Given the description of an element on the screen output the (x, y) to click on. 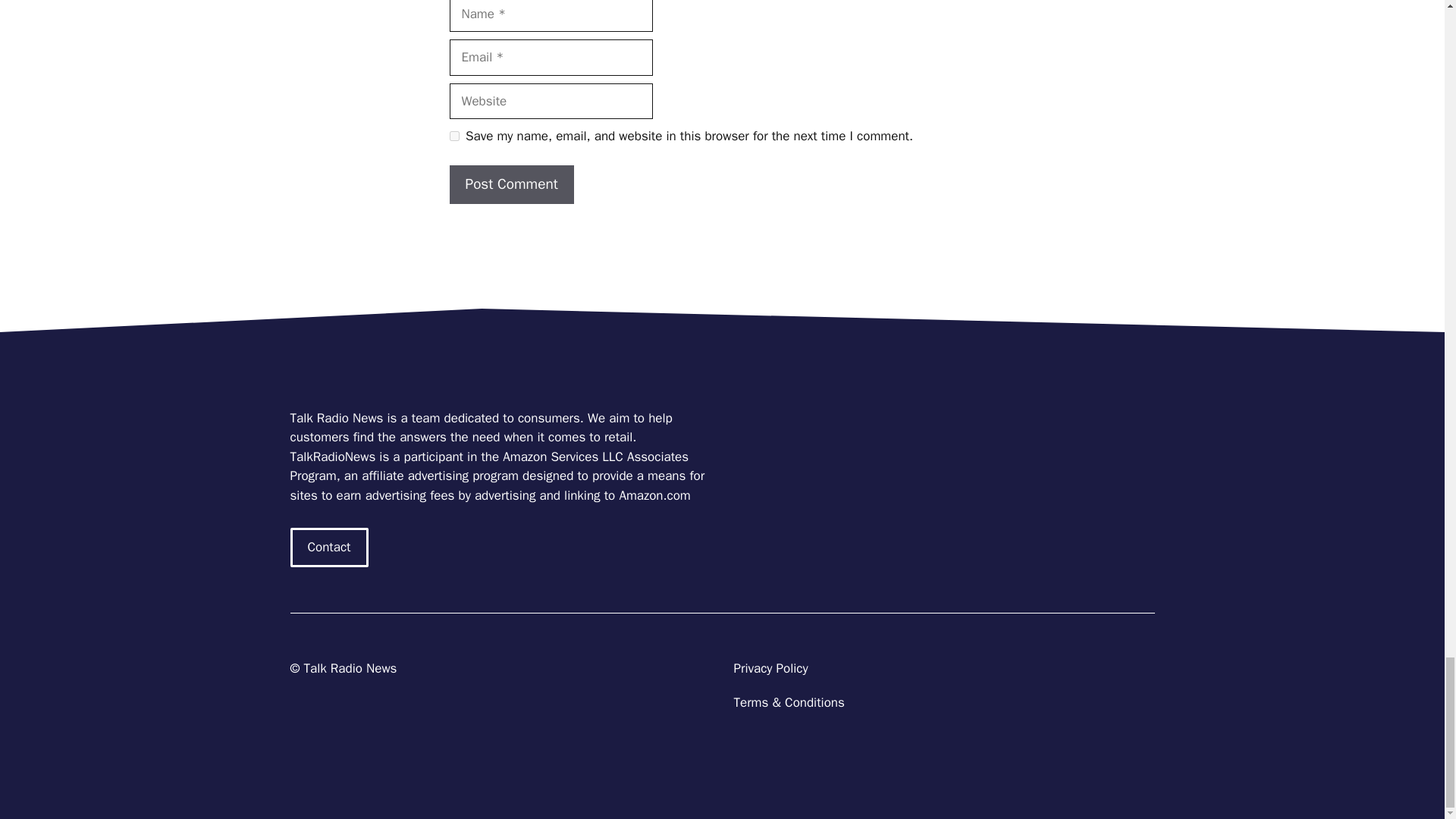
Post Comment (510, 184)
Privacy Policy (770, 668)
Post Comment (510, 184)
yes (453, 135)
Contact (328, 547)
